Given the description of an element on the screen output the (x, y) to click on. 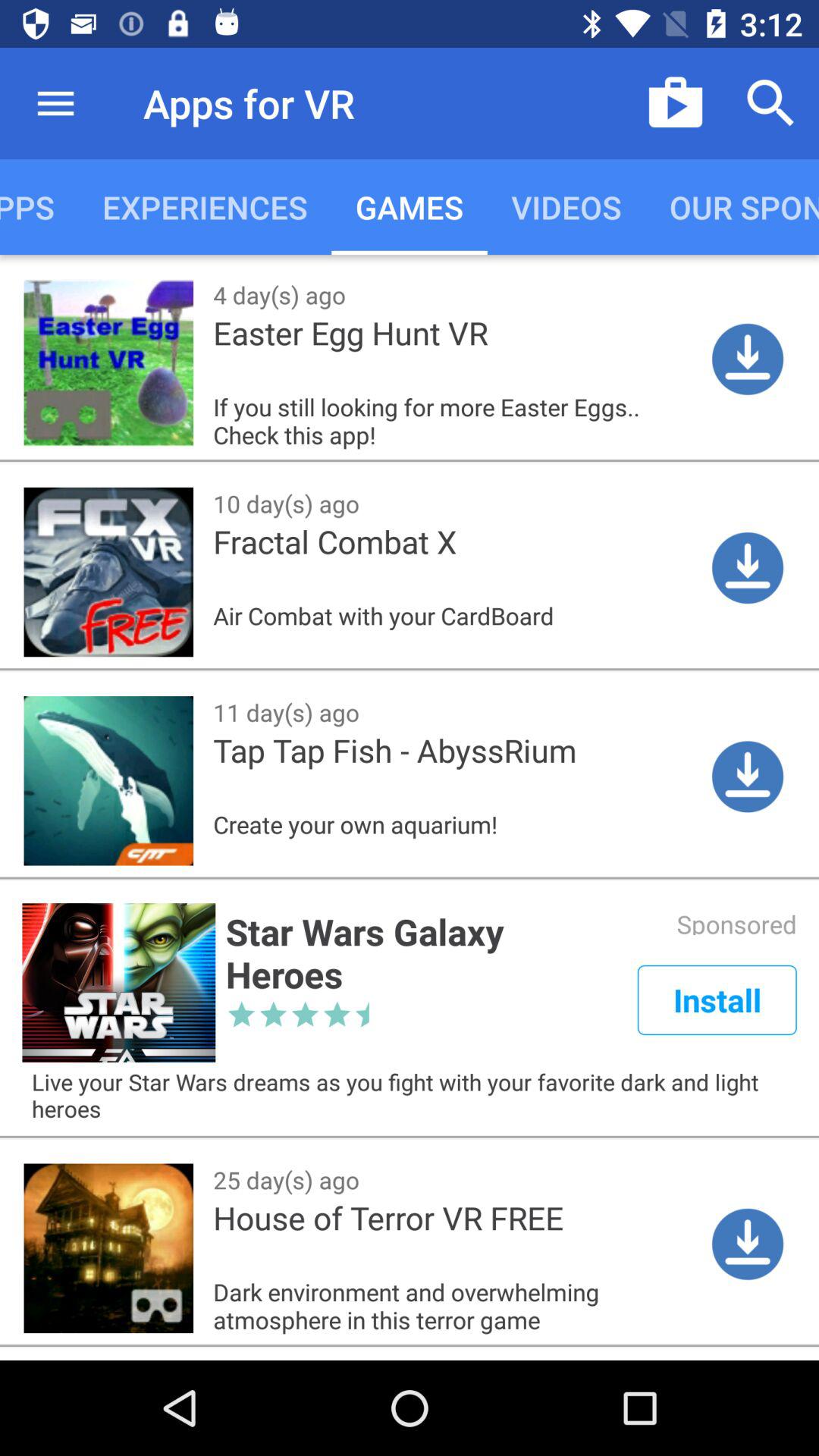
click the icon above latest apps (55, 103)
